Given the description of an element on the screen output the (x, y) to click on. 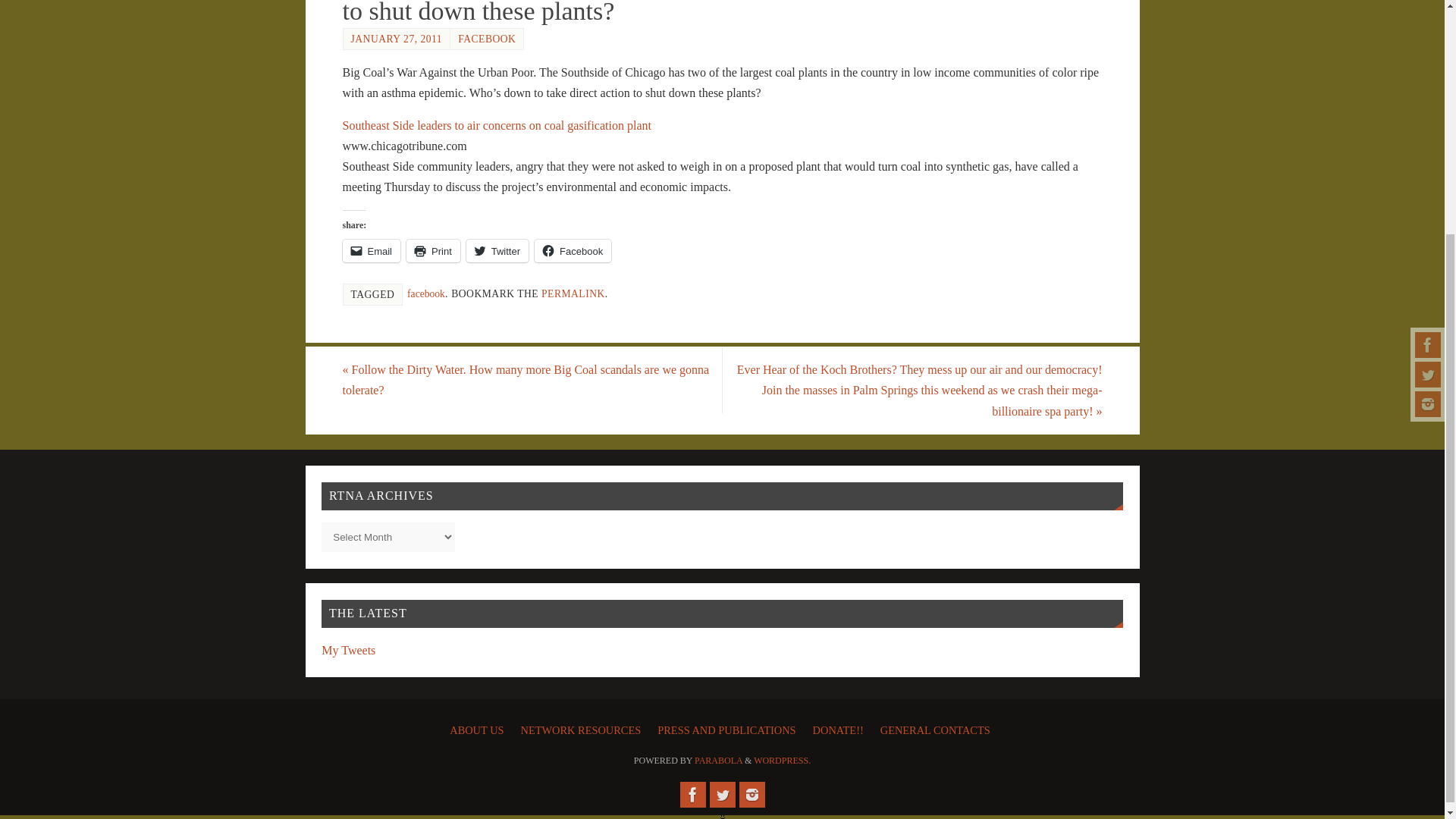
Facebook (691, 794)
Twitter (1428, 53)
Click to email a link to a friend (371, 250)
JANUARY 27, 2011 (396, 39)
FACEBOOK (486, 39)
Click to share on Twitter (496, 250)
Click to print (433, 250)
Semantic Personal Publishing Platform (782, 760)
Facebook (1428, 23)
Instagram (1428, 82)
Click to share on Facebook (572, 250)
Parabola Theme by Cryout Creations (718, 760)
